Given the description of an element on the screen output the (x, y) to click on. 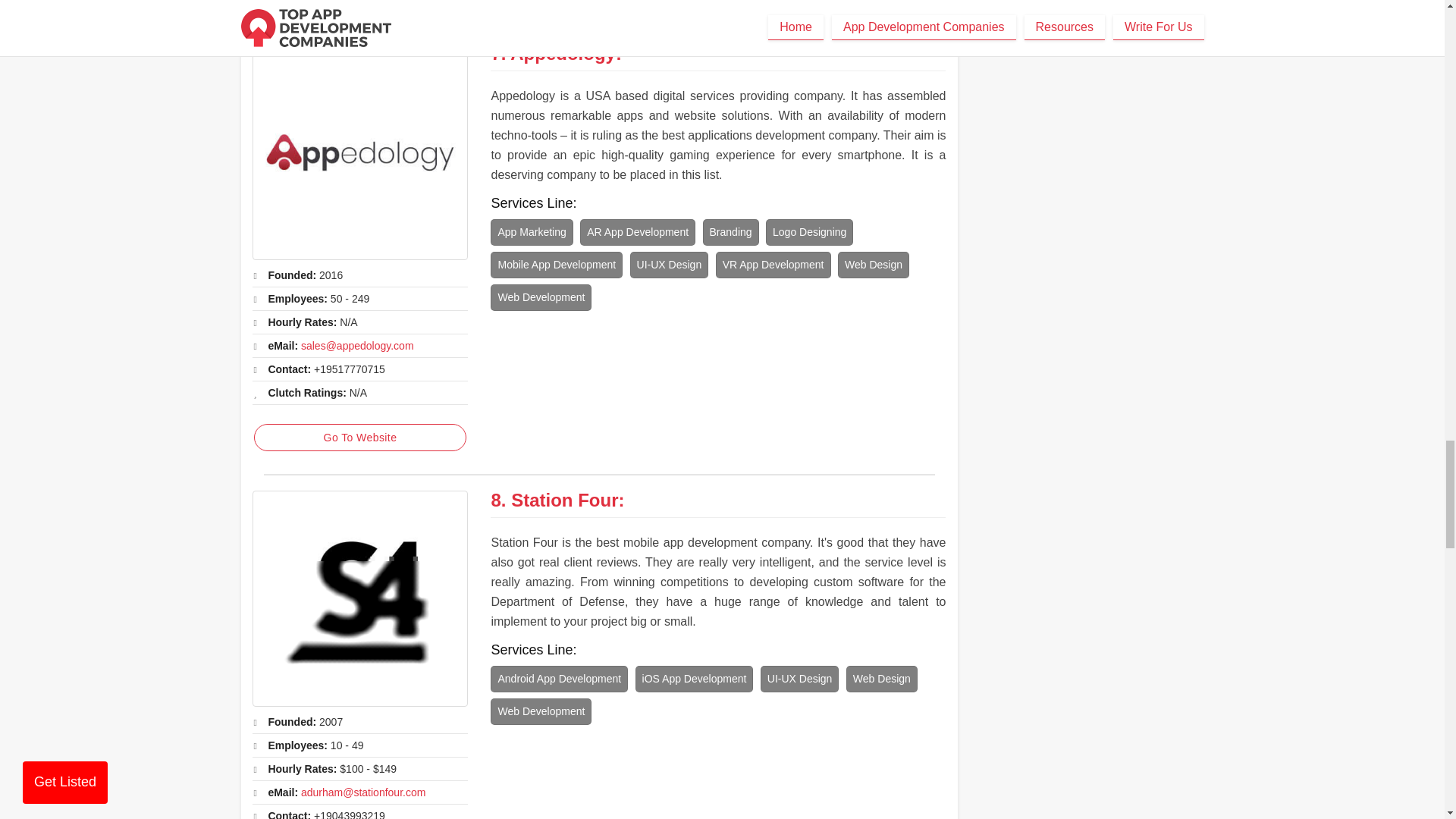
Station Four (359, 598)
Appedology (359, 152)
Go To Website (359, 437)
Go To Website (359, 2)
Appedology (563, 53)
